Given the description of an element on the screen output the (x, y) to click on. 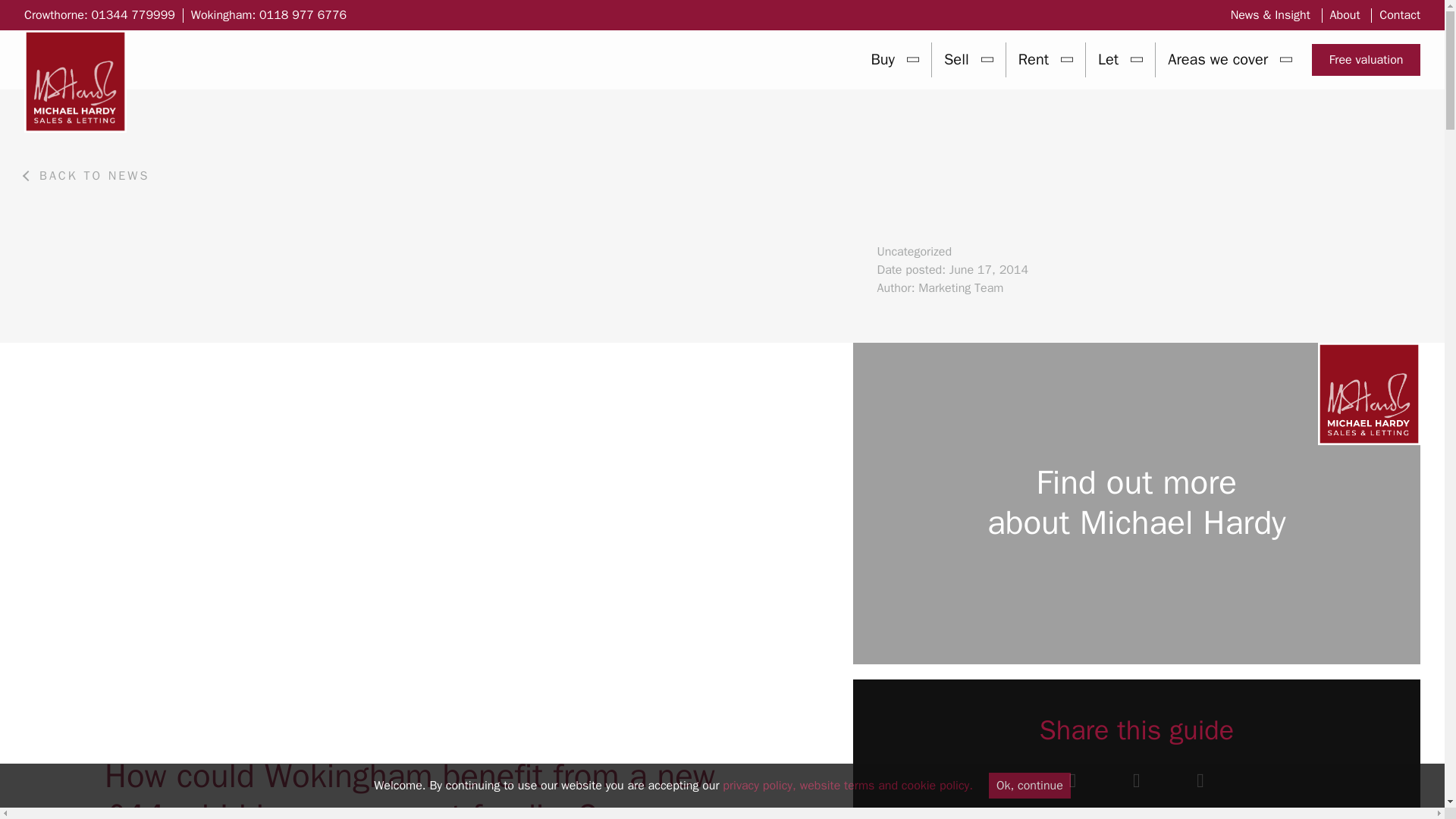
Free valuation (1366, 60)
Buy (895, 59)
Let (1120, 59)
Wokingham: 0118 977 6776 (268, 15)
Crowthorne: 01344 779999 (99, 15)
Areas we cover (1230, 59)
Sell (968, 59)
Rent (1045, 59)
About (1345, 15)
Contact (1399, 15)
